Given the description of an element on the screen output the (x, y) to click on. 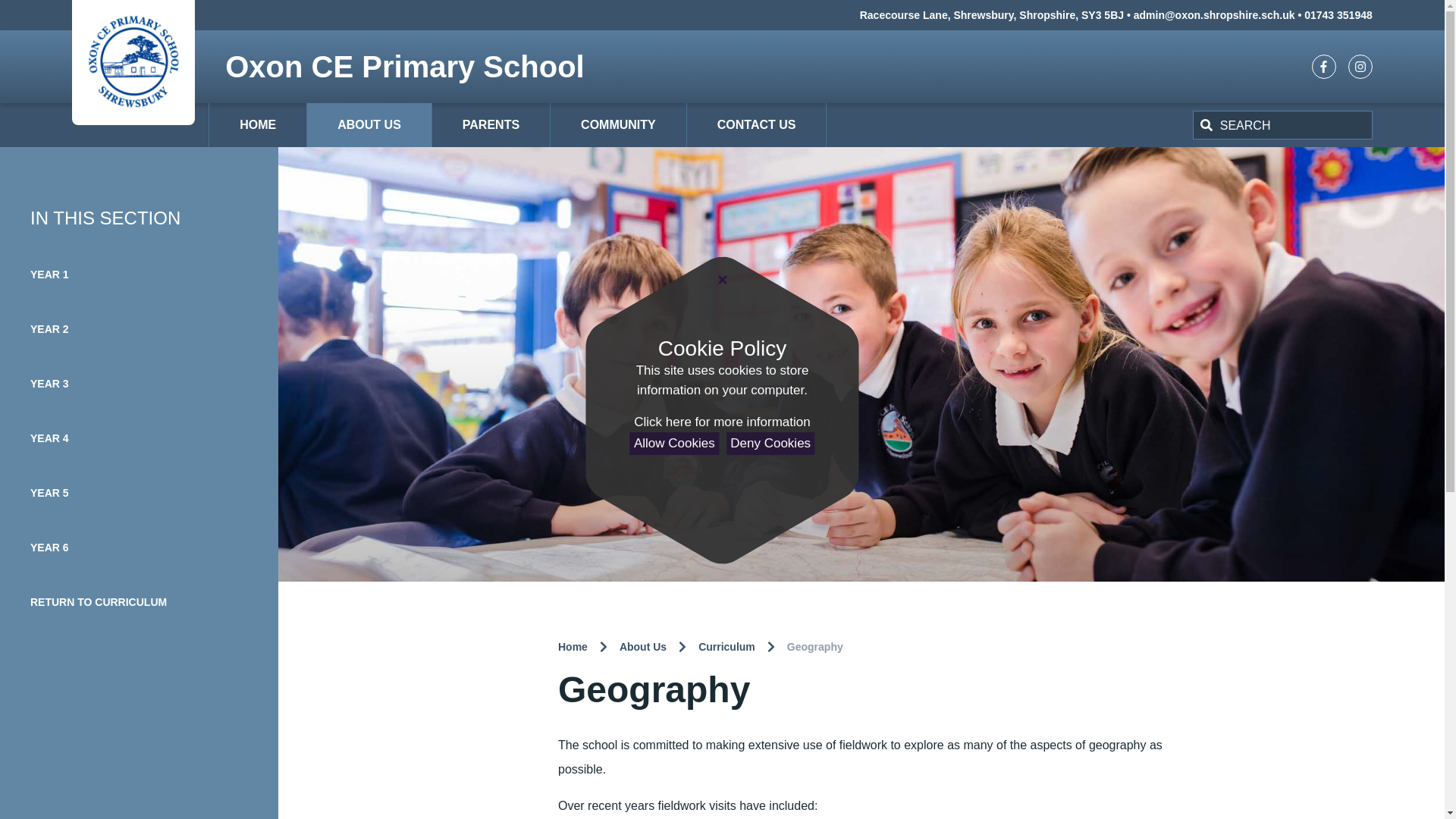
ABOUT US (368, 125)
Deny Cookies (769, 443)
HOME (257, 125)
See cookie policy (721, 422)
Allow Cookies (674, 443)
Search (1295, 124)
